Given the description of an element on the screen output the (x, y) to click on. 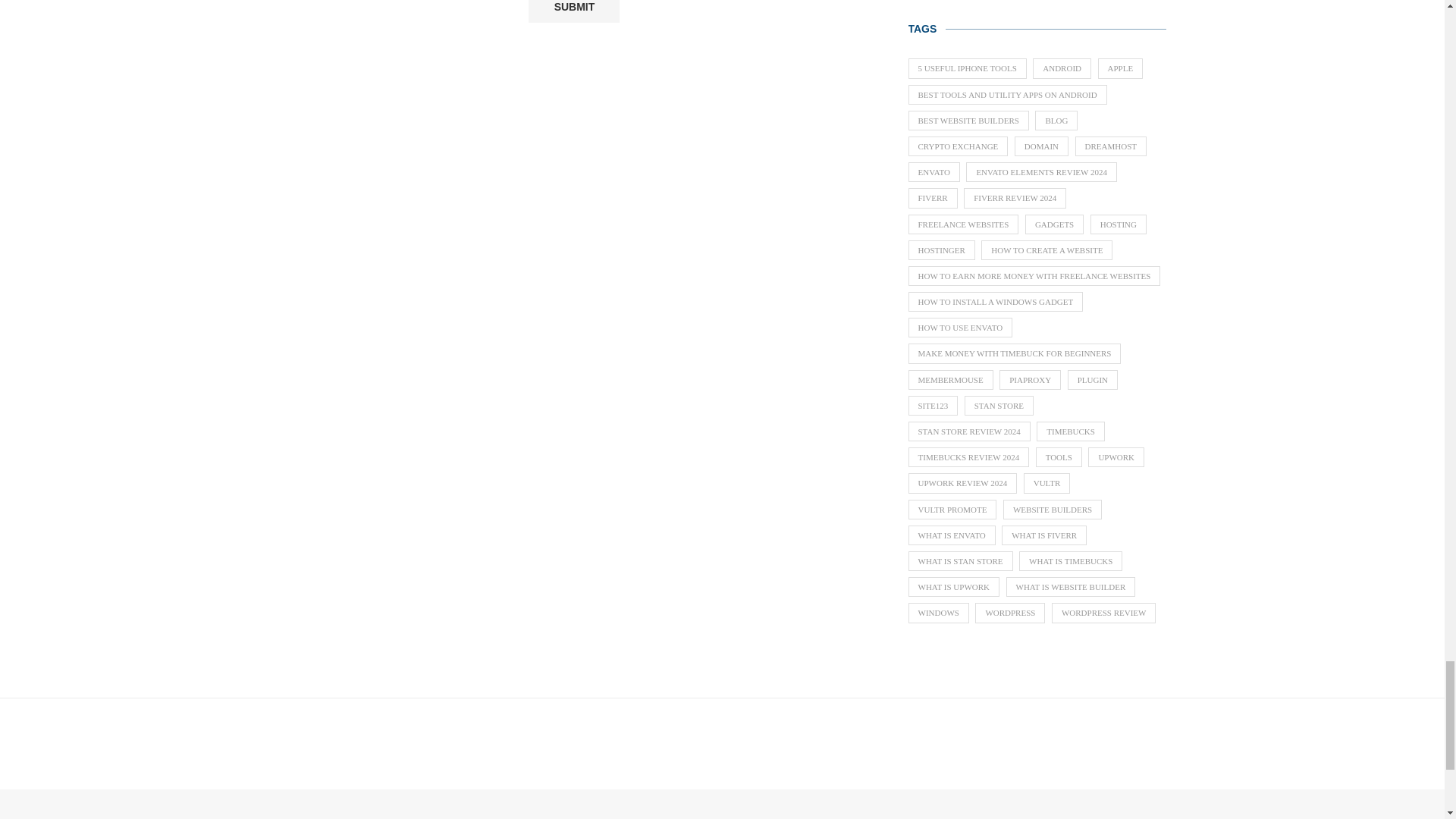
Submit (574, 11)
